Given the description of an element on the screen output the (x, y) to click on. 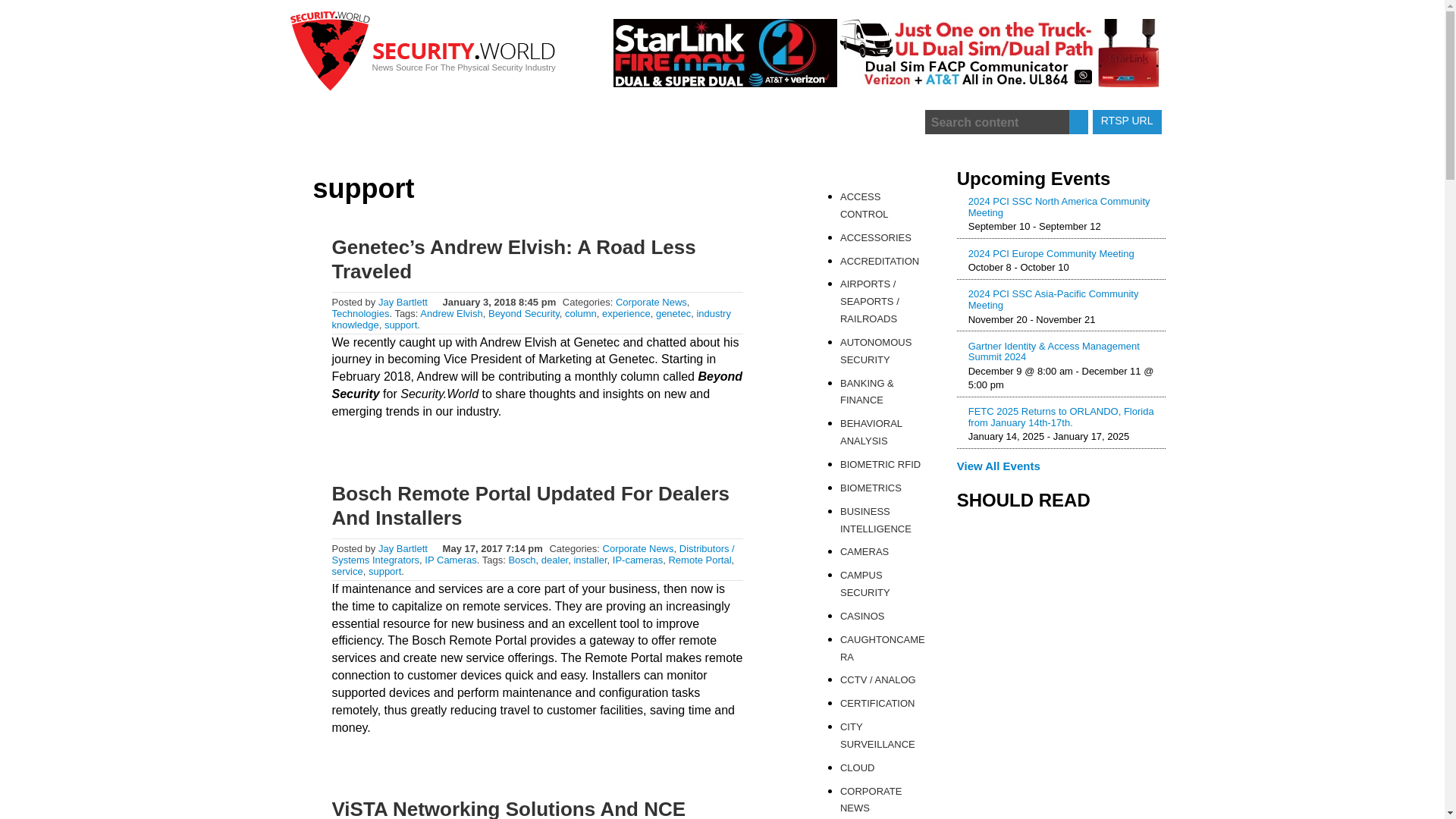
column (580, 313)
Resources (664, 122)
News Source For The Physical Security Industry (425, 58)
Events (546, 122)
Reviews (370, 122)
Advertise (859, 122)
Security.World (425, 58)
Andrew Elvish (450, 313)
Resources (664, 122)
Reviews (370, 122)
